Given the description of an element on the screen output the (x, y) to click on. 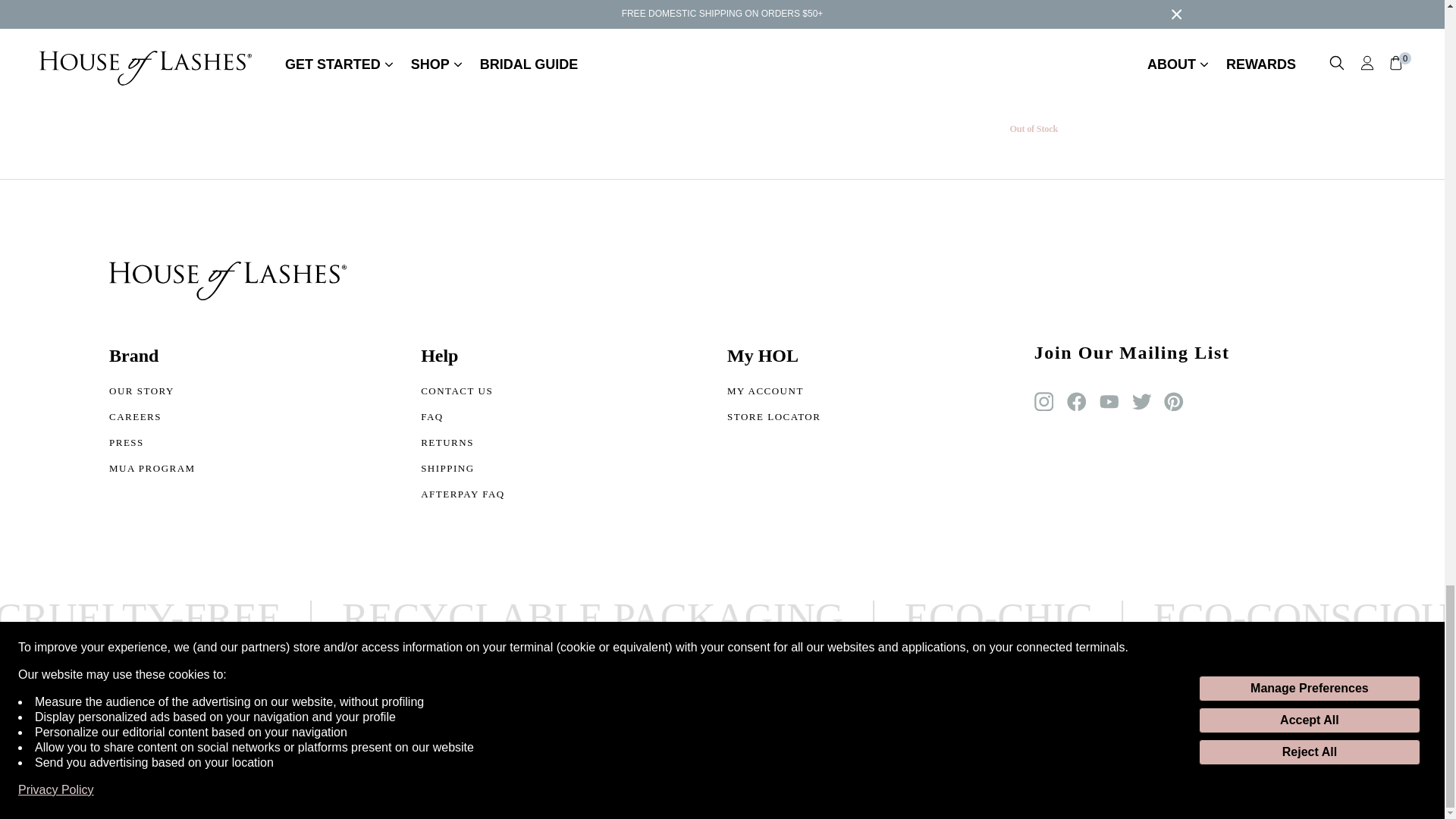
Shipping (462, 471)
Pinterest (1173, 401)
YouTube (1109, 401)
Returns (462, 445)
MUA Program  (152, 471)
Press (152, 445)
FAQ (462, 420)
Afterpay FAQ (462, 497)
Contact Us (462, 394)
Facebook (1076, 401)
Careers (152, 420)
Instagram (1043, 401)
Twitter (1141, 401)
Our Story (152, 394)
My Account (774, 394)
